Given the description of an element on the screen output the (x, y) to click on. 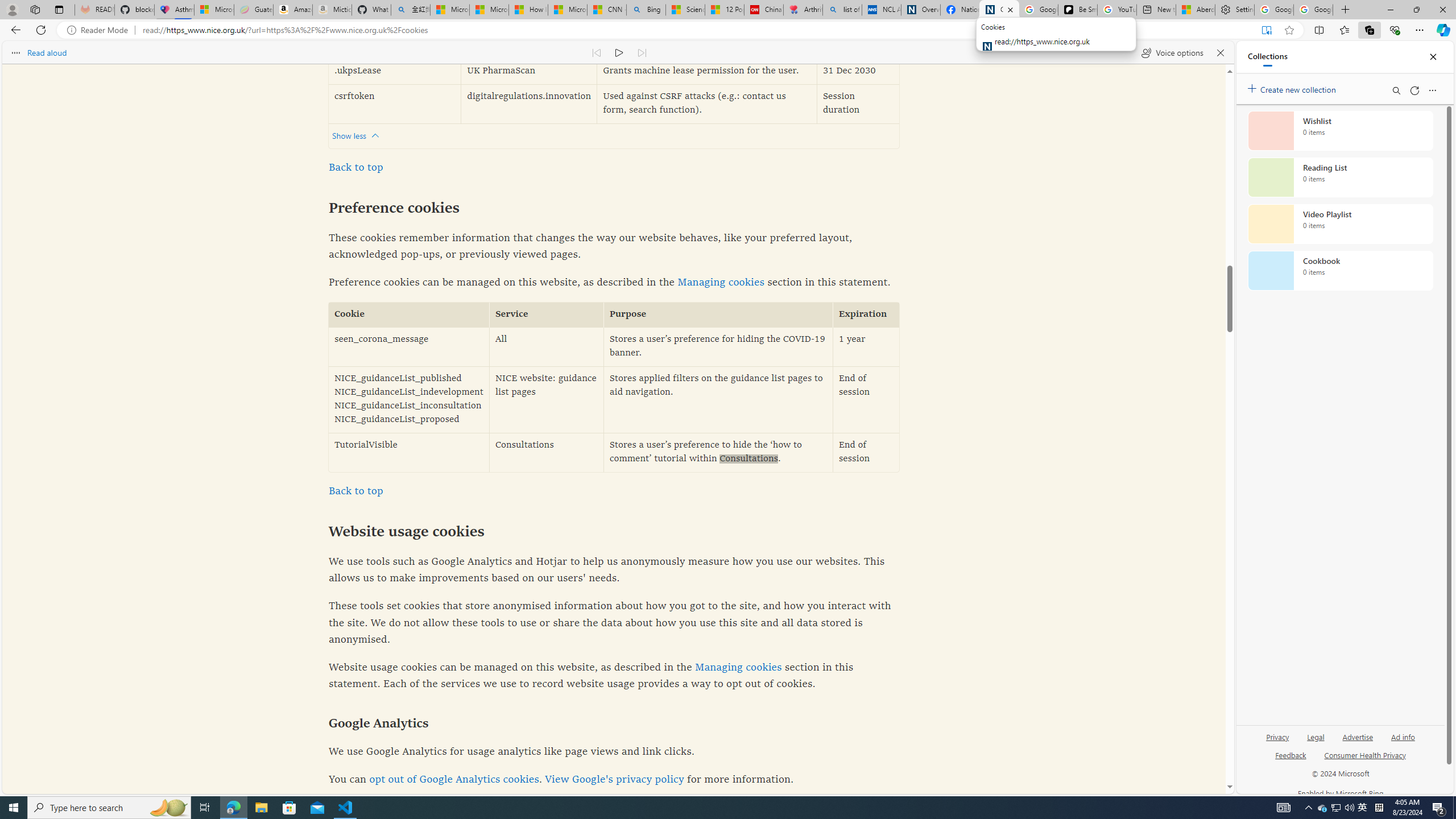
1 year (865, 346)
.ukpsLease (394, 71)
How I Got Rid of Microsoft Edge's Unnecessary Features (528, 9)
Consumer Health Privacy (1364, 754)
Back to top (354, 491)
Legal (1315, 741)
Consumer Health Privacy (1364, 759)
Asthma Inhalers: Names and Types (174, 9)
Read next paragraph (641, 52)
